Given the description of an element on the screen output the (x, y) to click on. 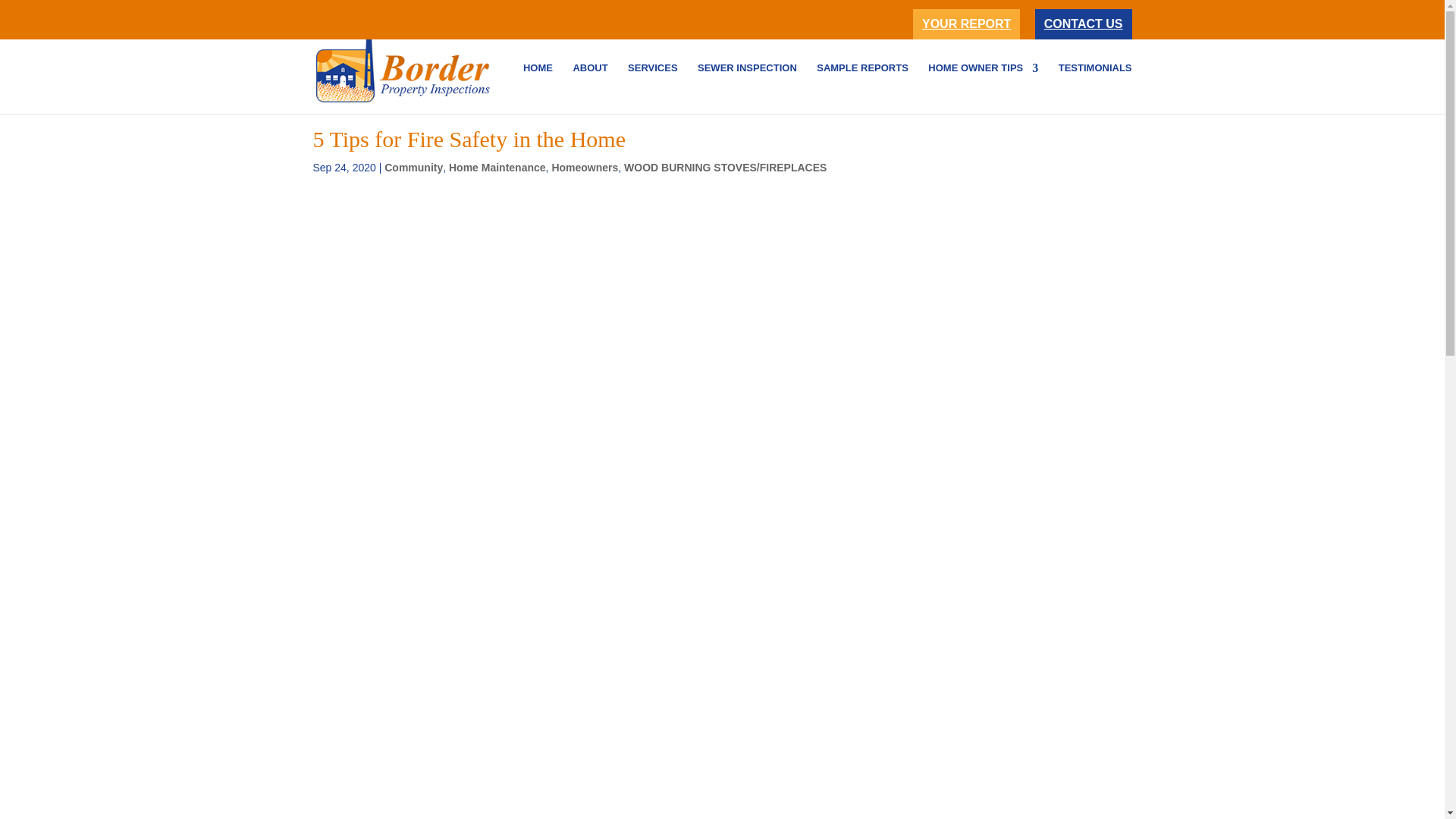
Homeowners (584, 167)
HOME OWNER TIPS (983, 88)
SERVICES (652, 88)
SEWER INSPECTION (746, 88)
CONTACT US (1083, 24)
YOUR REPORT (966, 24)
Community (413, 167)
TESTIMONIALS (1095, 88)
SAMPLE REPORTS (862, 88)
Home Maintenance (497, 167)
